Given the description of an element on the screen output the (x, y) to click on. 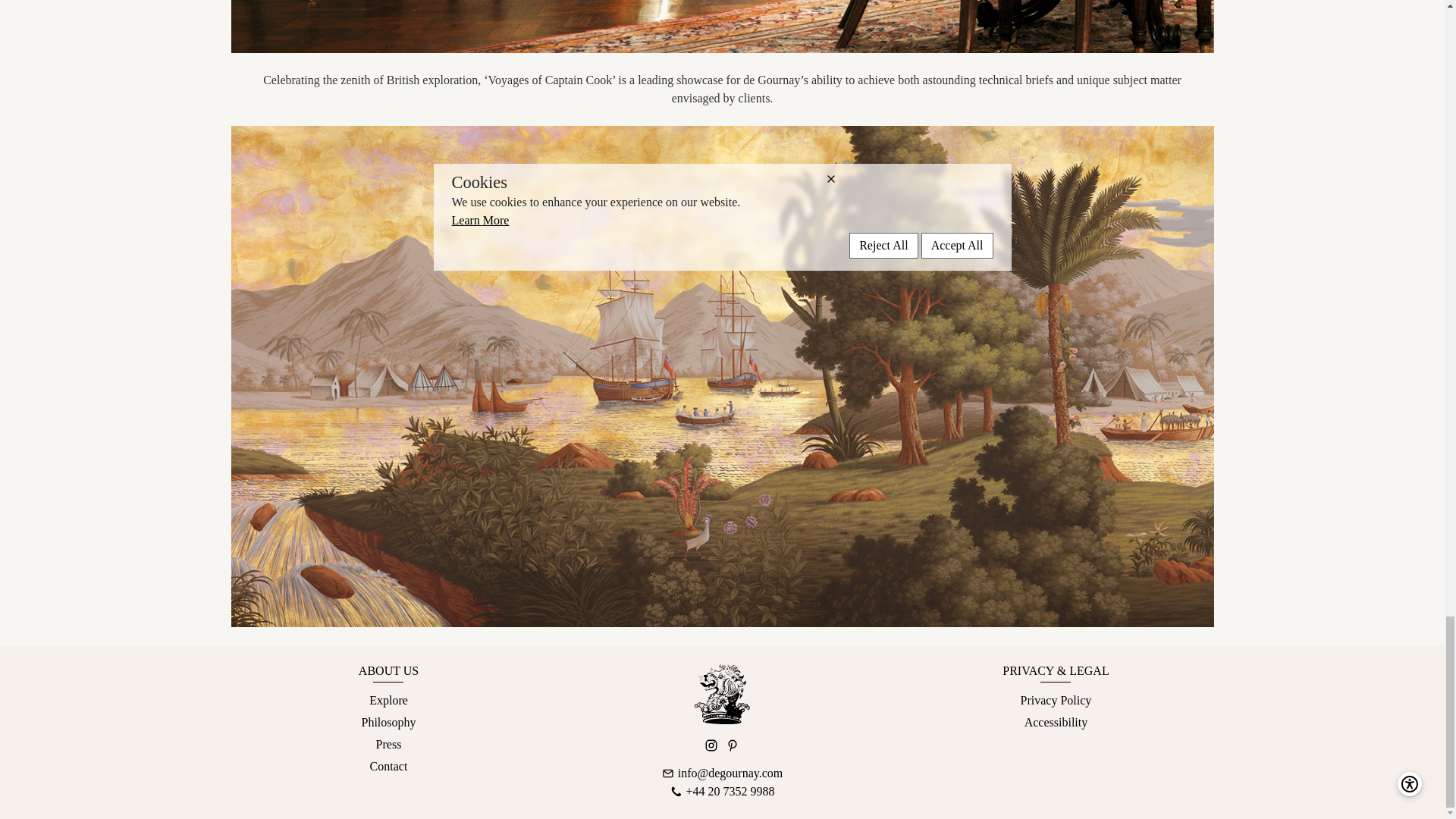
Go to our Instagram page (710, 745)
Go to our Pinterest page (732, 745)
